Given the description of an element on the screen output the (x, y) to click on. 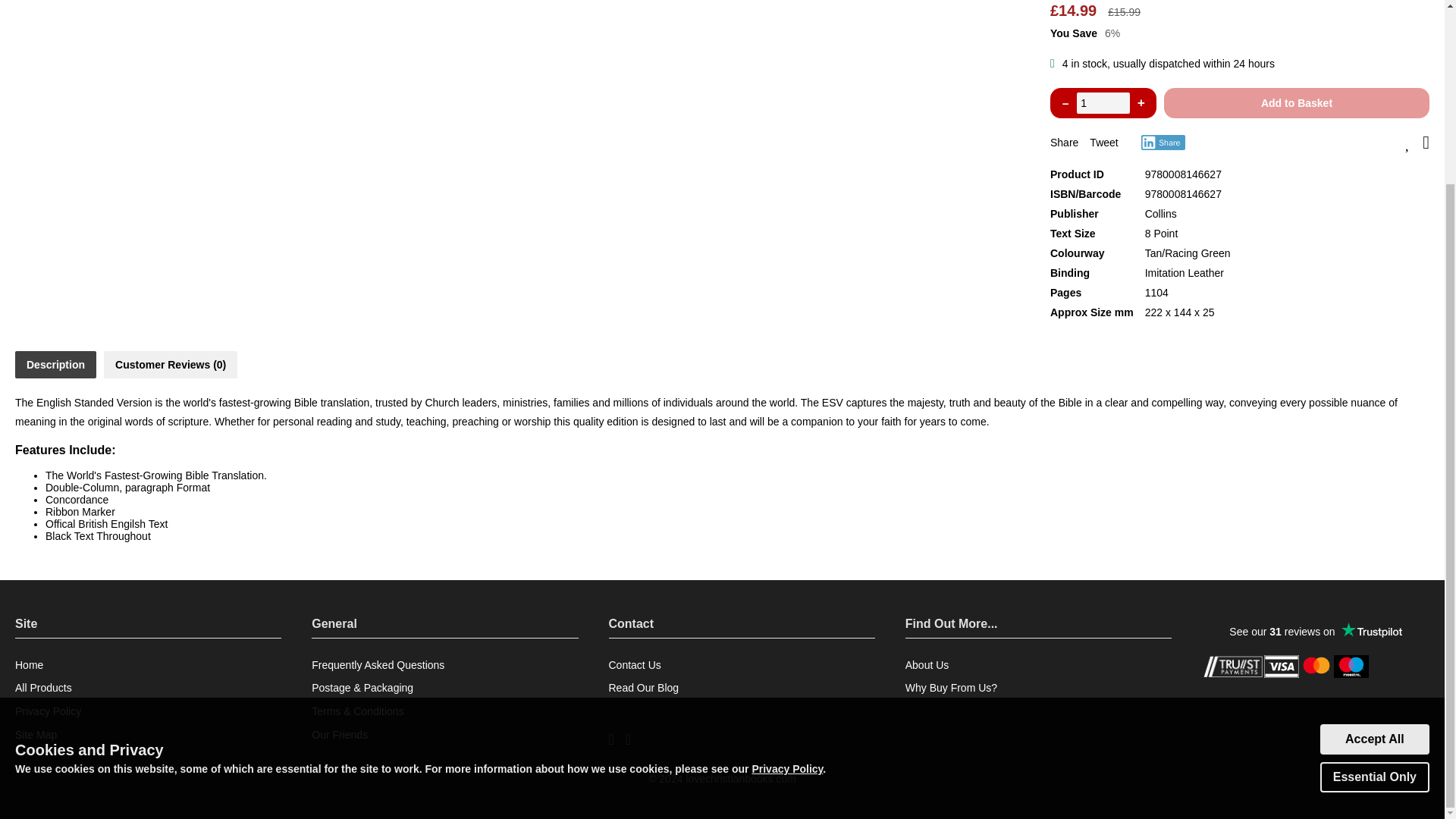
Customer reviews powered by Trustpilot (1315, 631)
1 (1103, 102)
